Given the description of an element on the screen output the (x, y) to click on. 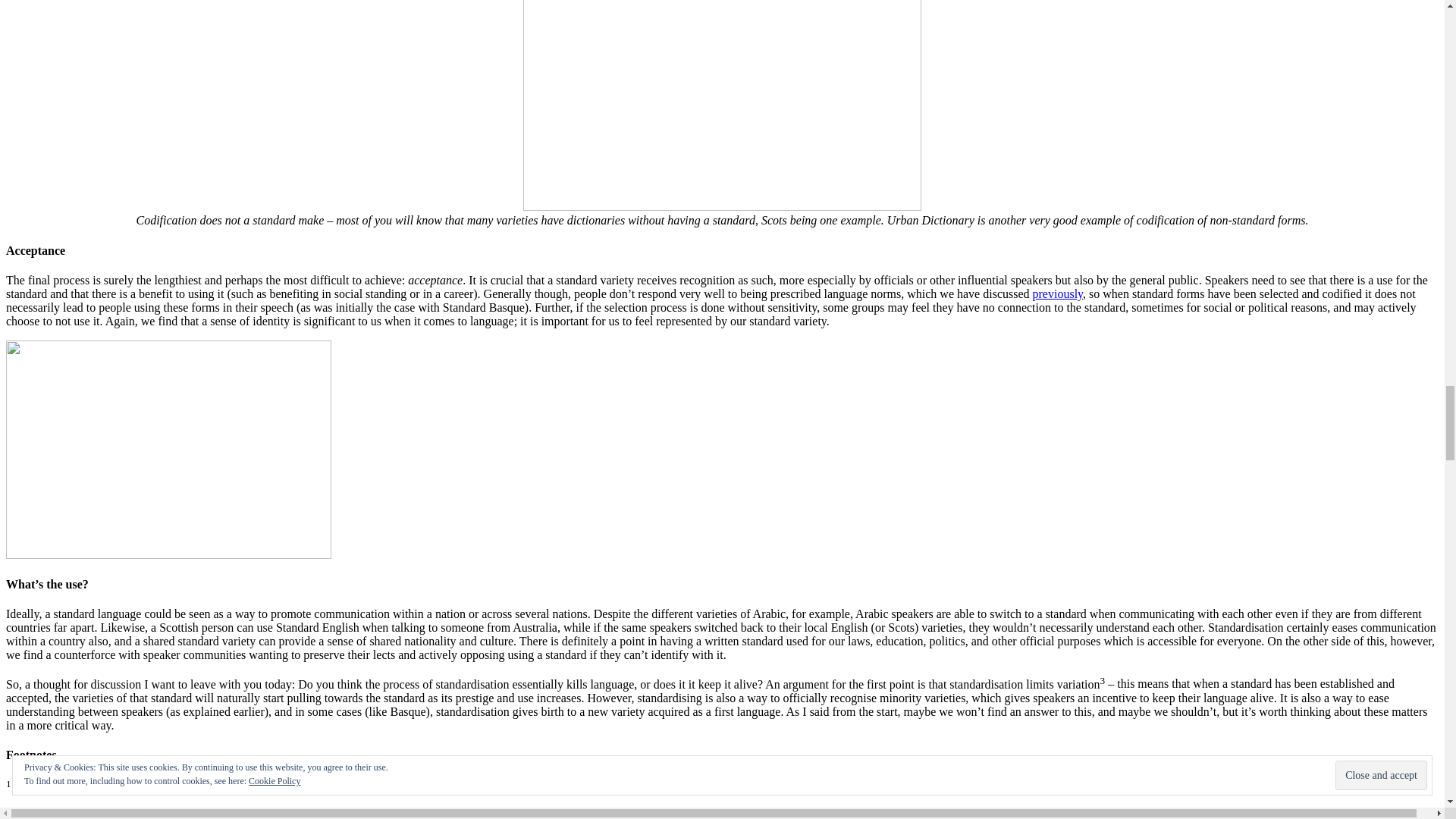
previously (1057, 293)
